Given the description of an element on the screen output the (x, y) to click on. 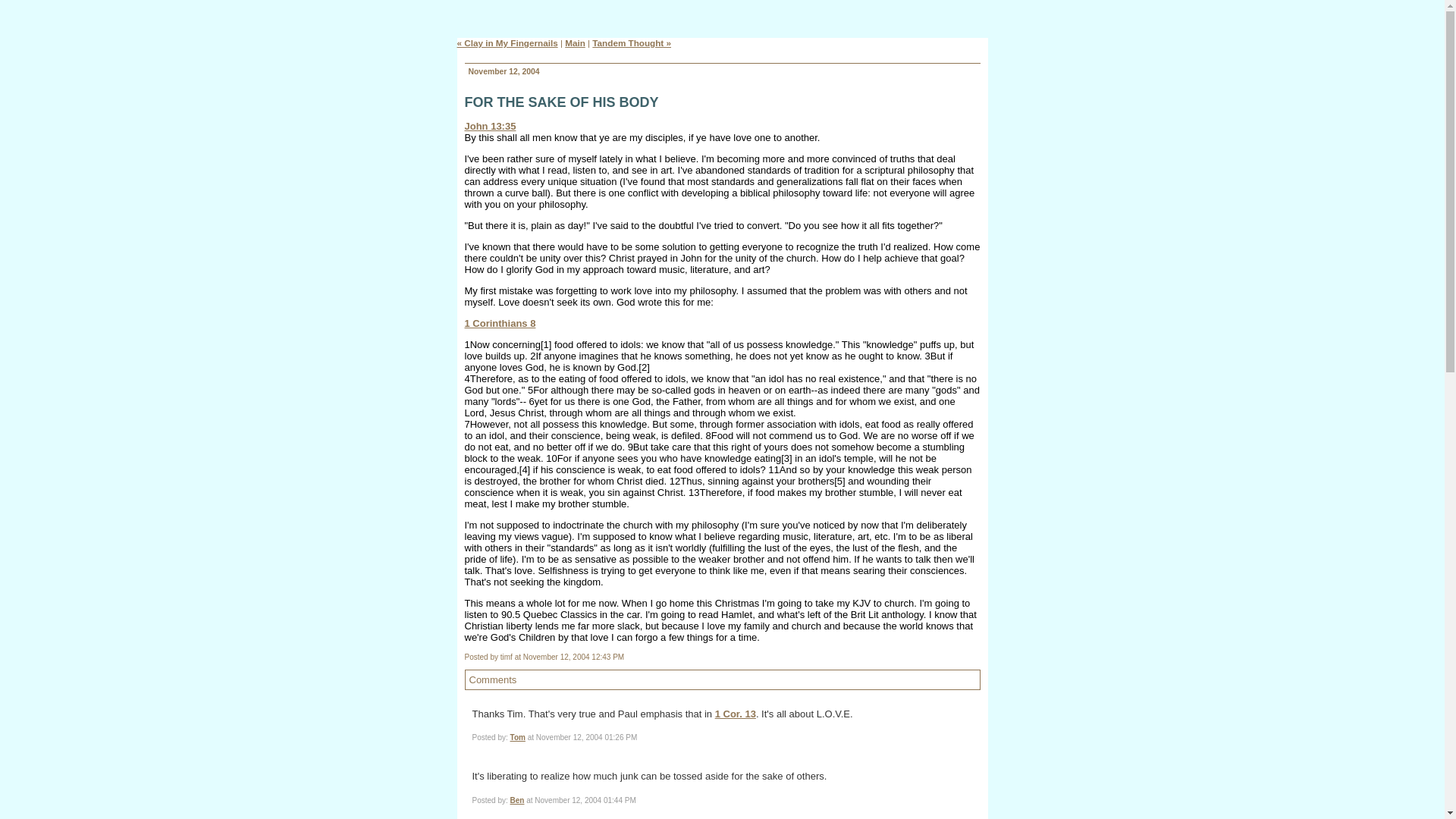
1 Corinthians 8 (499, 323)
Bible Gateway (489, 125)
Tom (518, 737)
John 13:35 (489, 125)
Ben (517, 800)
Bible Gateway (499, 323)
